Given the description of an element on the screen output the (x, y) to click on. 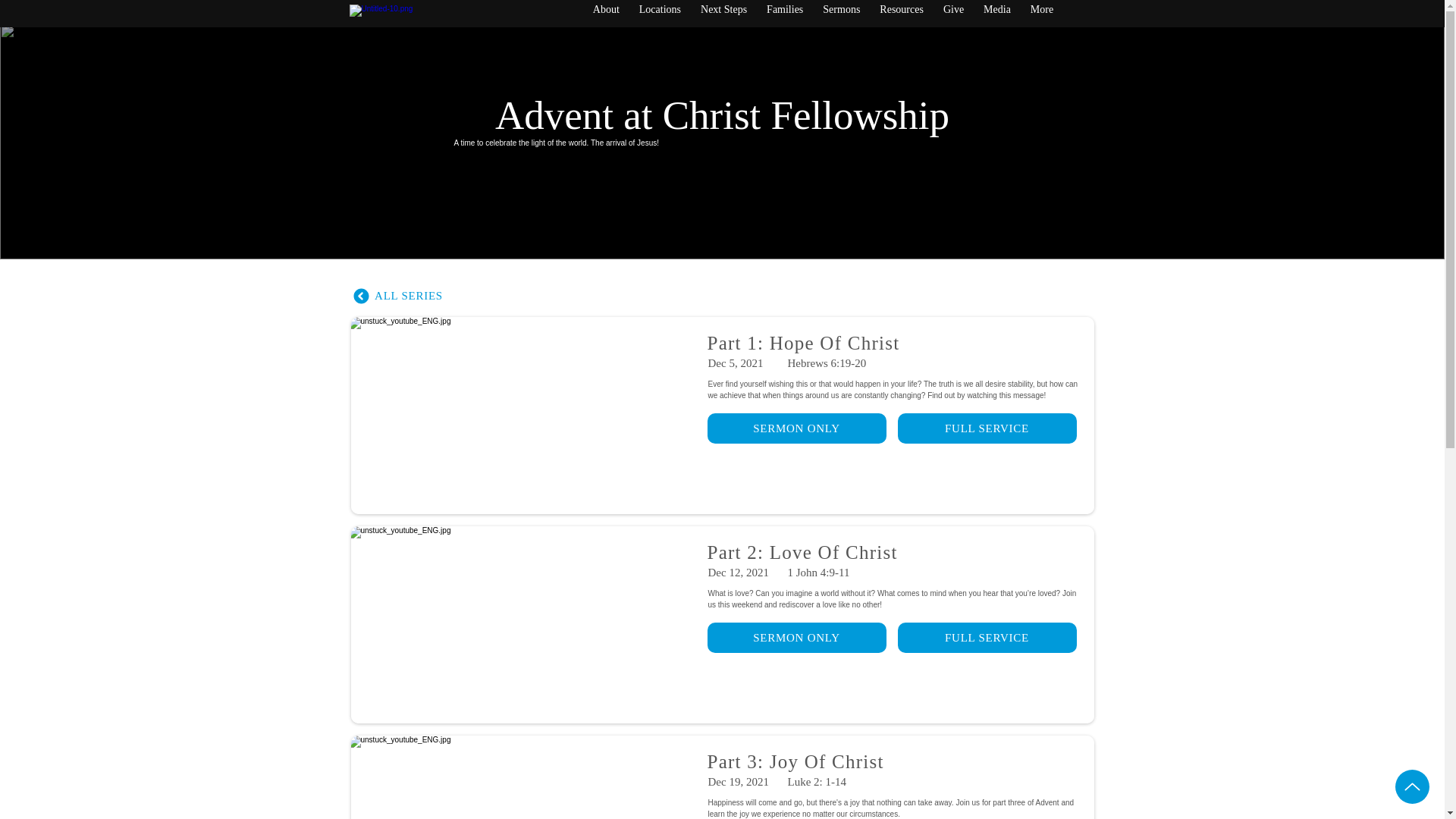
FULL SERVICE (987, 637)
Advent Part 3.jpeg (523, 777)
Advent P1.jpeg (523, 415)
leading-logo-02.png (424, 13)
Advent Part 2.jpeg (523, 624)
SERMON ONLY (795, 428)
Resources (901, 13)
FULL SERVICE (987, 428)
SERMON ONLY (795, 637)
Locations (659, 13)
Sermons (840, 13)
Give (953, 13)
ALL SERIES (397, 295)
